Given the description of an element on the screen output the (x, y) to click on. 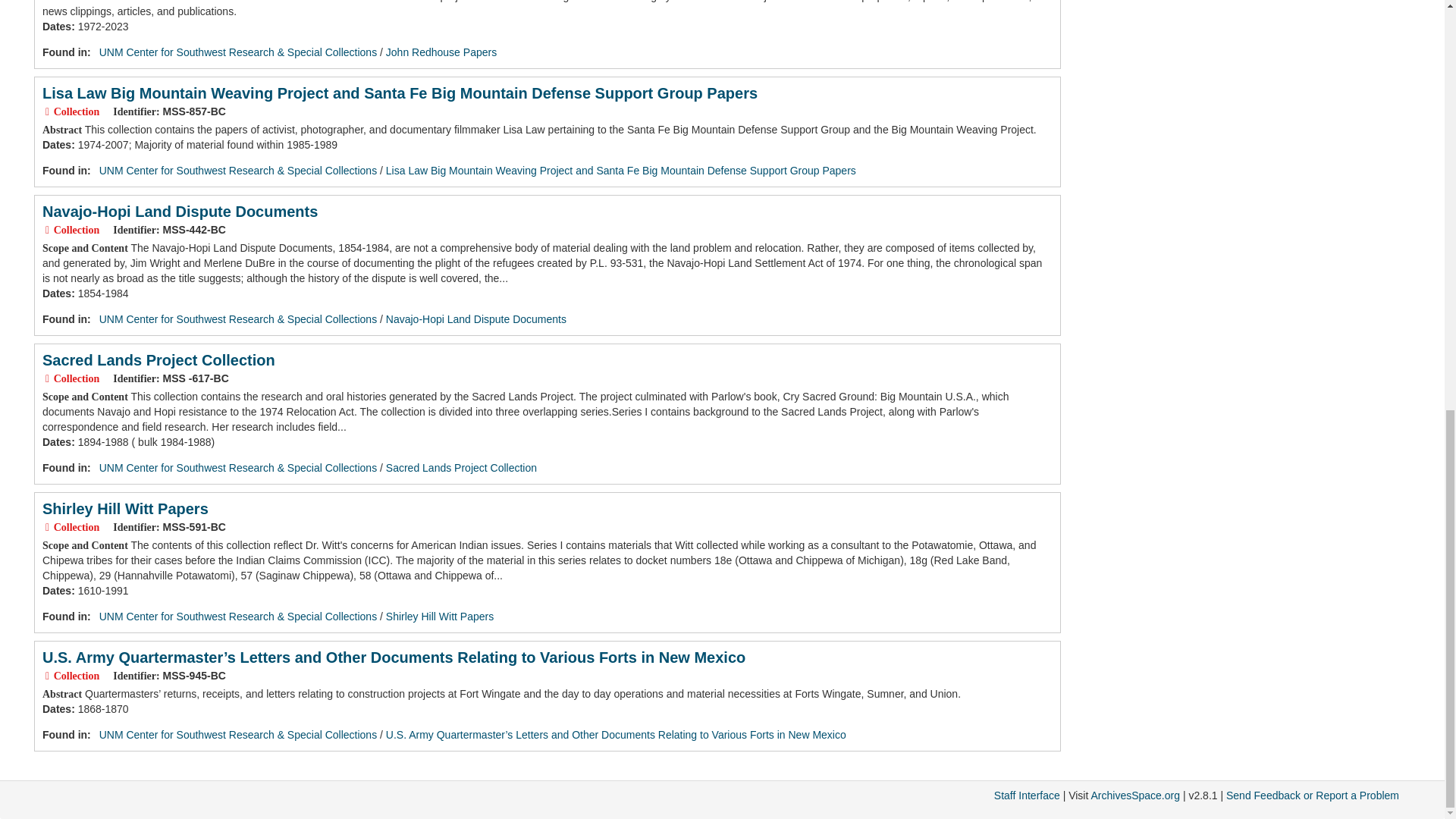
translation missing: en.dates (56, 144)
translation missing: en.dates (56, 26)
Navajo-Hopi Land Dispute Documents (475, 318)
Shirley Hill Witt Papers (125, 508)
translation missing: en.dates (56, 293)
John Redhouse Papers (440, 51)
Shirley Hill Witt Papers (439, 616)
Sacred Lands Project Collection (158, 360)
Sacred Lands Project Collection (461, 467)
Navajo-Hopi Land Dispute Documents (179, 211)
translation missing: en.dates (56, 590)
translation missing: en.dates (56, 708)
translation missing: en.dates (56, 441)
